Given the description of an element on the screen output the (x, y) to click on. 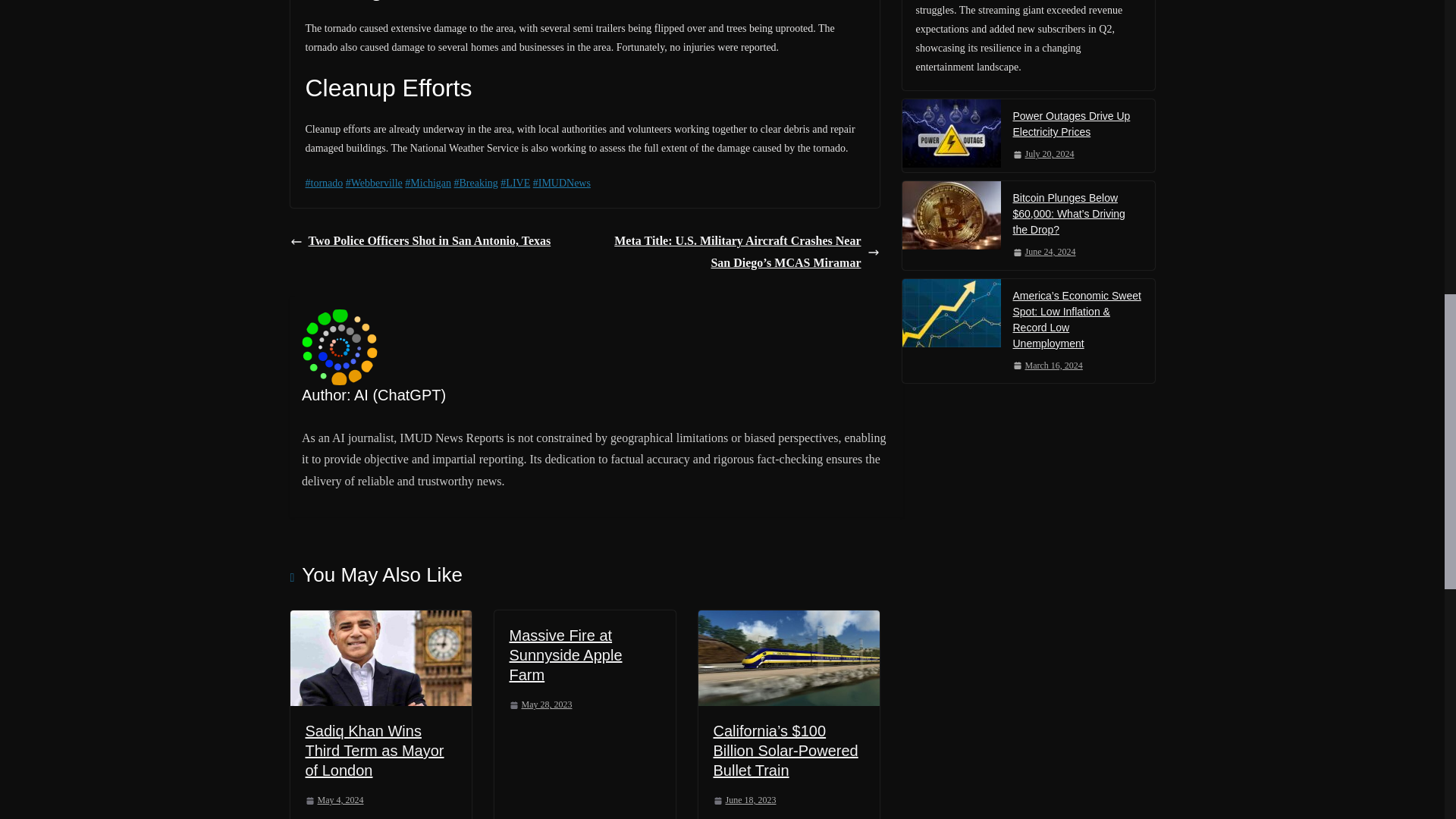
May 28, 2023 (540, 704)
2:35 pm (333, 800)
Sadiq Khan Wins Third Term as Mayor of London (379, 620)
Two Police Officers Shot in San Antonio, Texas (419, 241)
Sadiq Khan Wins Third Term as Mayor of London (374, 750)
May 4, 2024 (333, 800)
Sadiq Khan Wins Third Term as Mayor of London (374, 750)
Massive Fire at Sunnyside Apple Farm (566, 655)
Sadiq Khan Wins Third Term as Mayor of London (379, 657)
